Given the description of an element on the screen output the (x, y) to click on. 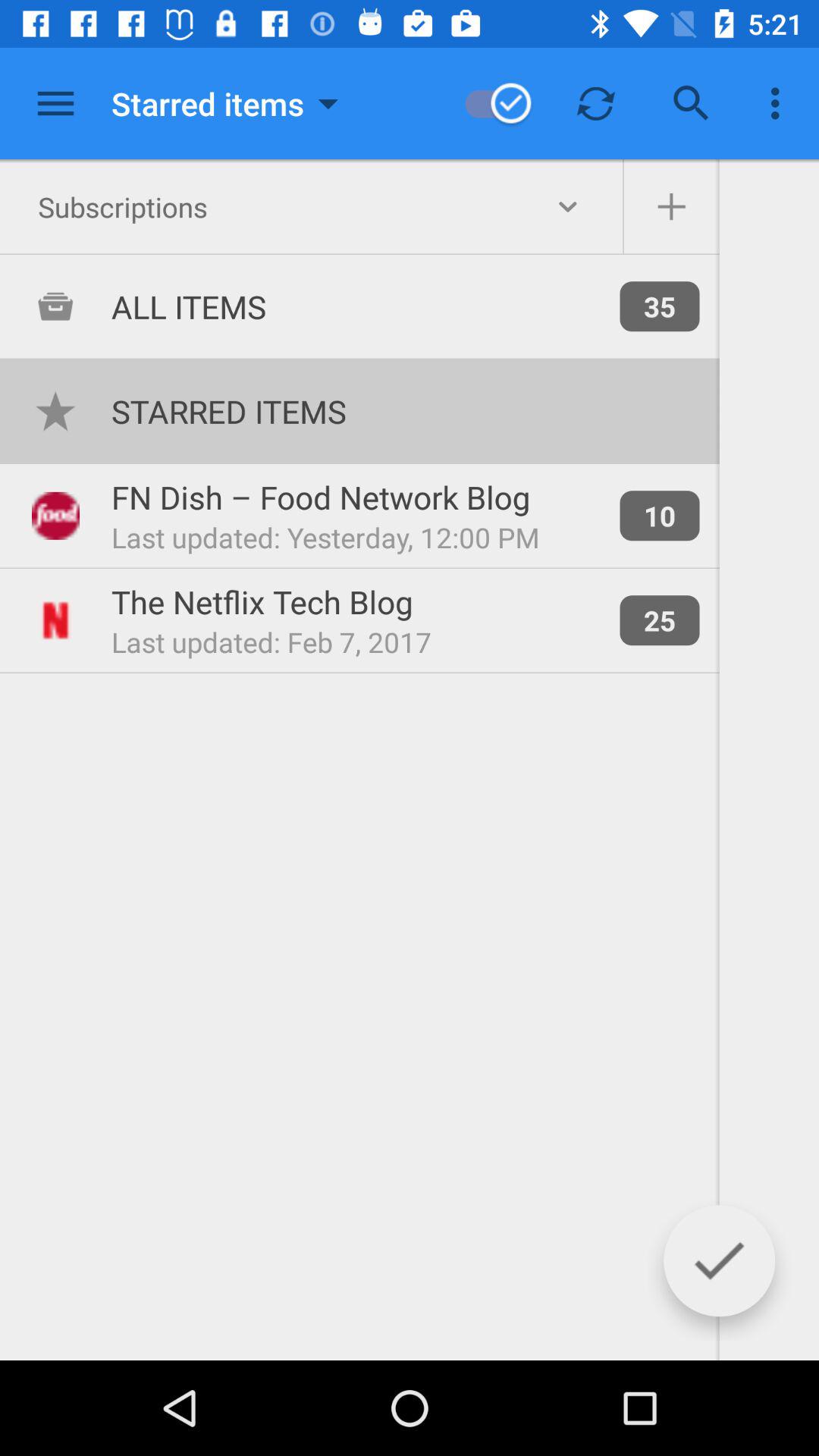
refresh items (595, 103)
